Given the description of an element on the screen output the (x, y) to click on. 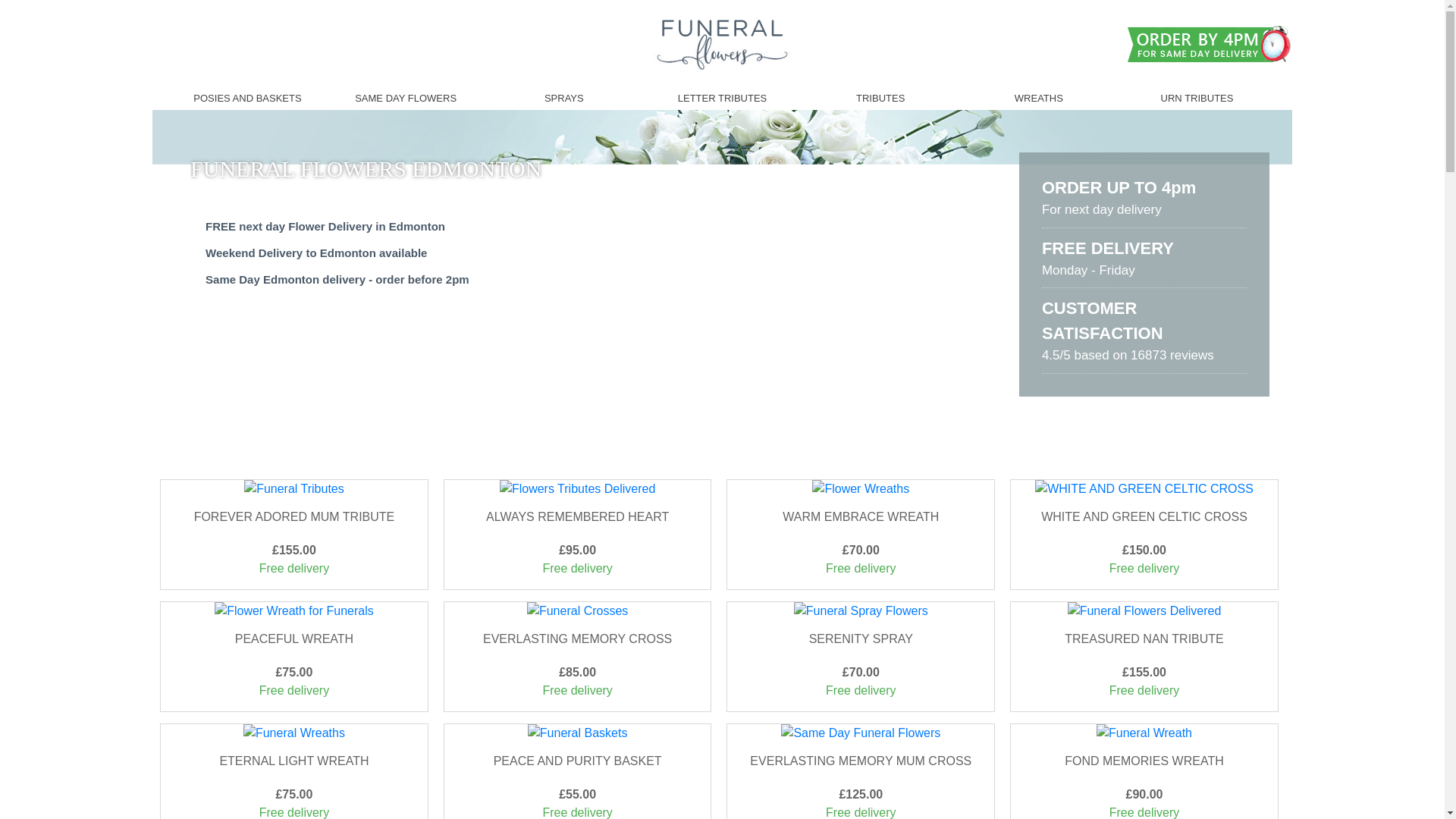
LETTER TRIBUTES (722, 97)
WREATHS (1038, 97)
SAME DAY FLOWERS (405, 97)
Same Day Edmonton delivery - order before 2pm (336, 278)
TRIBUTES (880, 97)
SPRAYS (563, 97)
URN TRIBUTES (1197, 97)
POSIES AND BASKETS (247, 97)
